Given the description of an element on the screen output the (x, y) to click on. 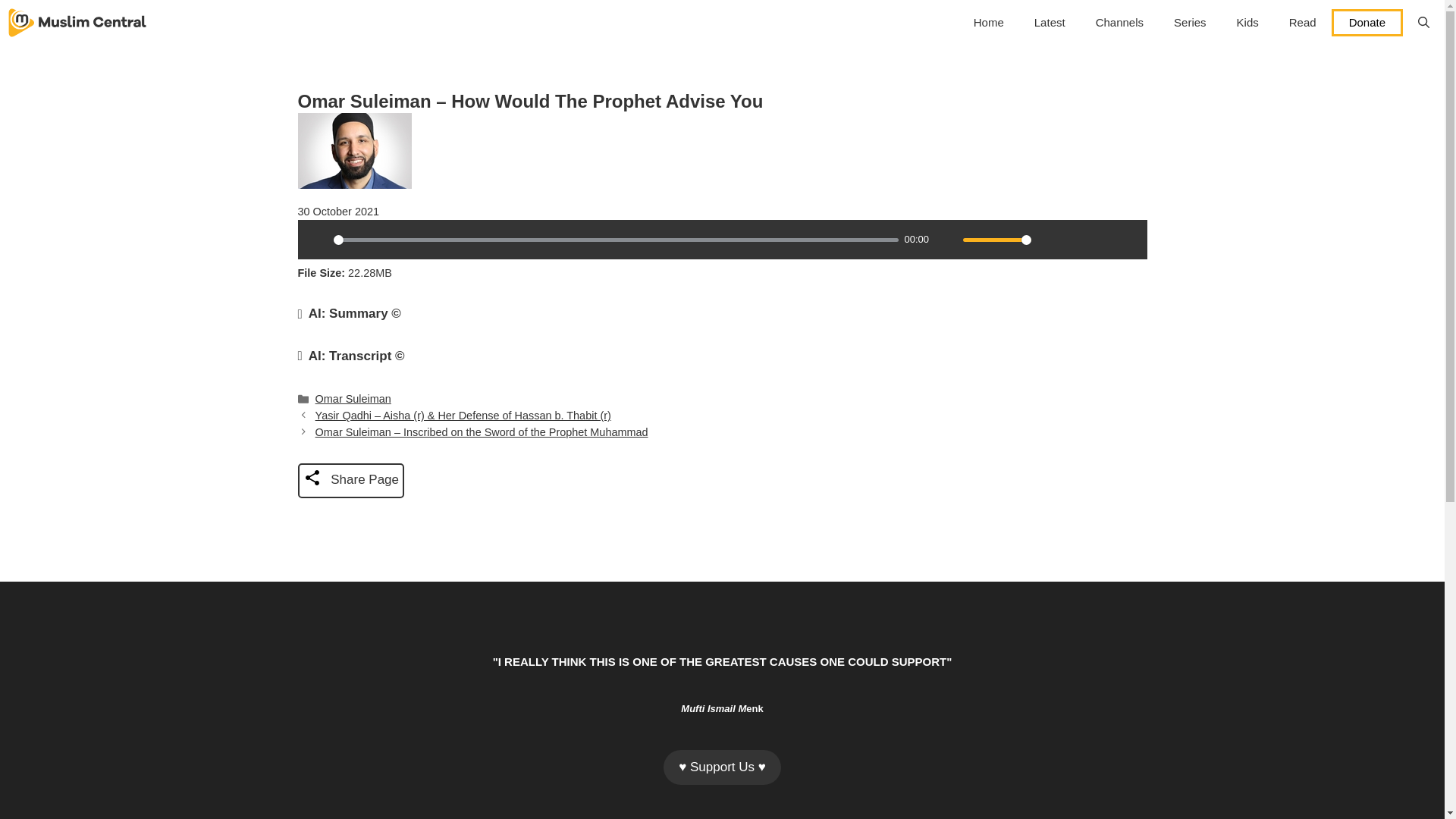
Channels (1119, 22)
Series (1189, 22)
Forward 10s (1126, 239)
Donate (1367, 22)
Home (988, 22)
Latest (1049, 22)
Settings (1048, 239)
Rewind 10s (1101, 239)
Mute (946, 239)
Kids (1247, 22)
